Given the description of an element on the screen output the (x, y) to click on. 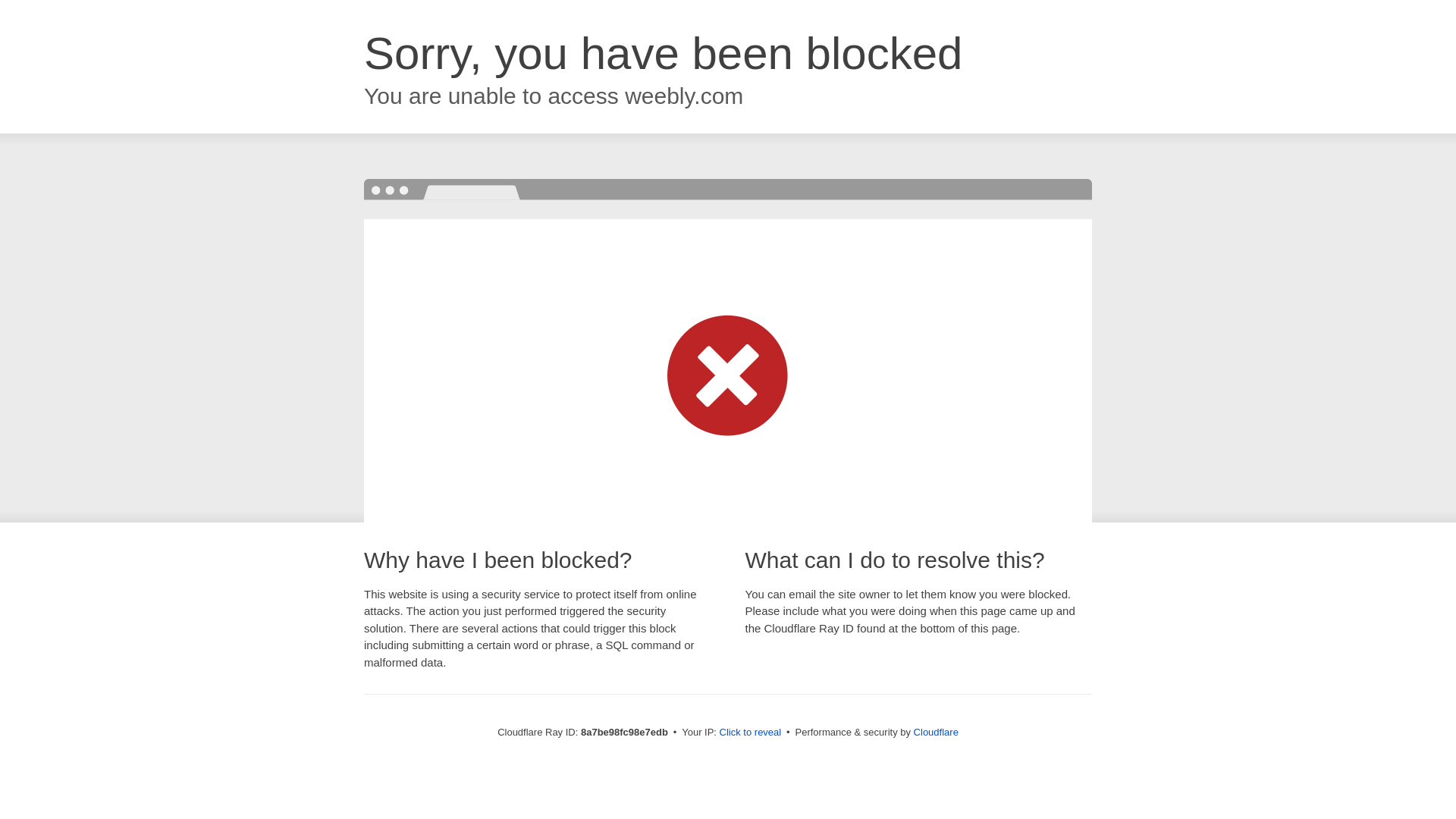
Click to reveal (750, 732)
Cloudflare (936, 731)
